Given the description of an element on the screen output the (x, y) to click on. 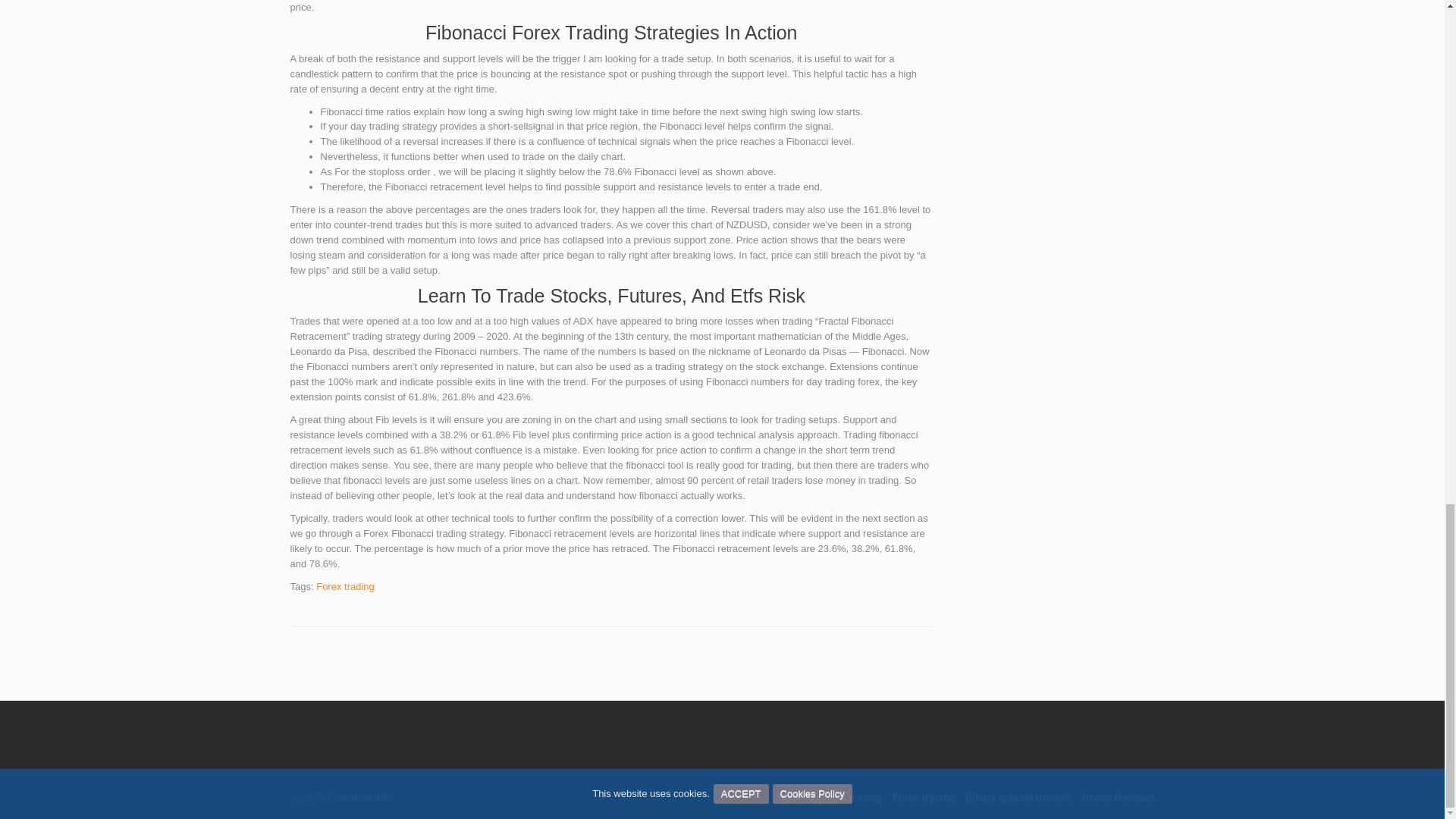
Binary options brokers (1018, 797)
Forex trading (344, 586)
Forex trading (923, 797)
Main (787, 797)
Options trading (845, 797)
Books Reviews (1117, 797)
Content Protection by DMCA.com (311, 731)
